Given the description of an element on the screen output the (x, y) to click on. 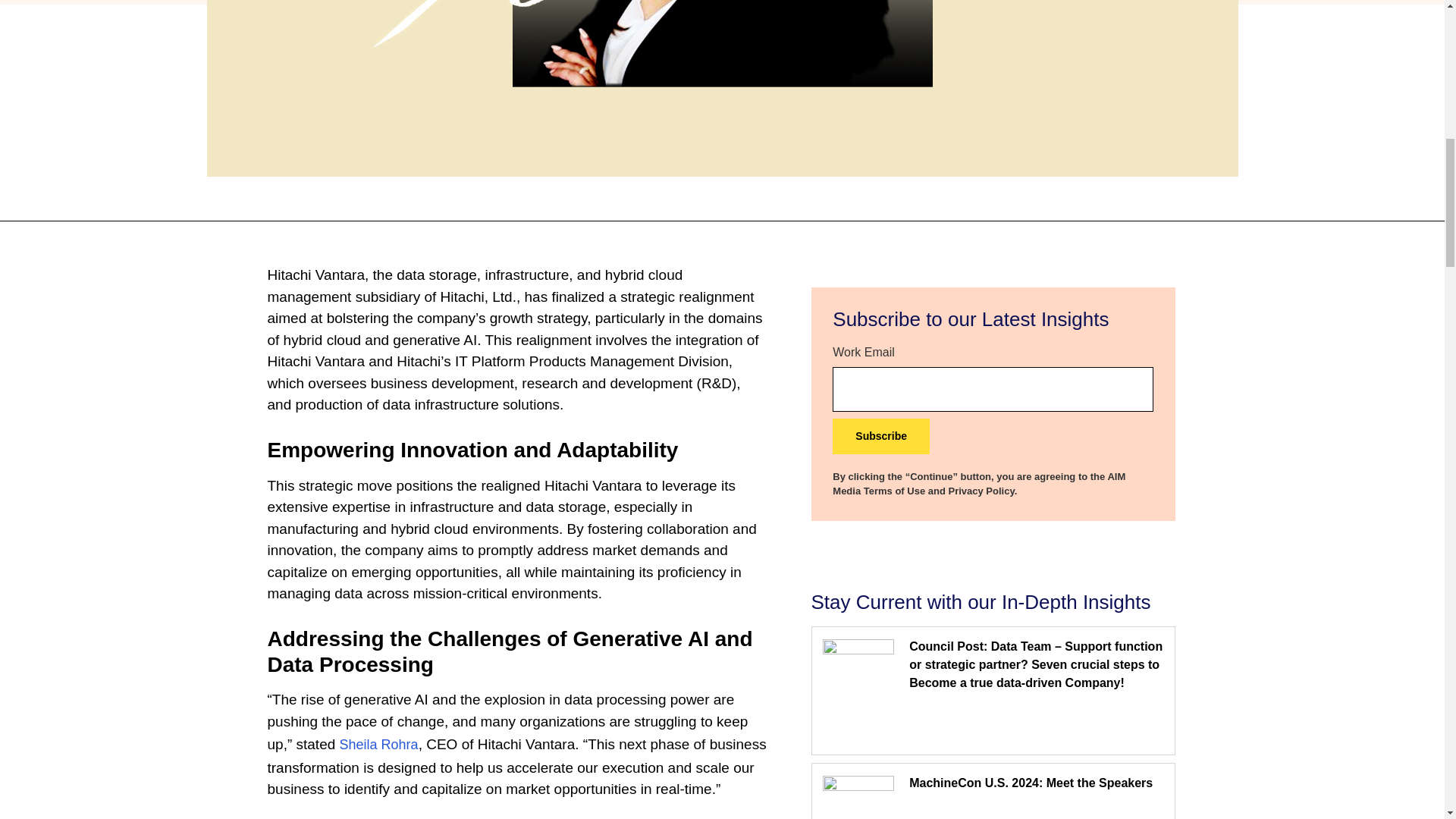
Subscribe (881, 436)
Sheila Rohra (379, 744)
MachineCon U.S. 2024: Meet the Speakers (1030, 782)
